Given the description of an element on the screen output the (x, y) to click on. 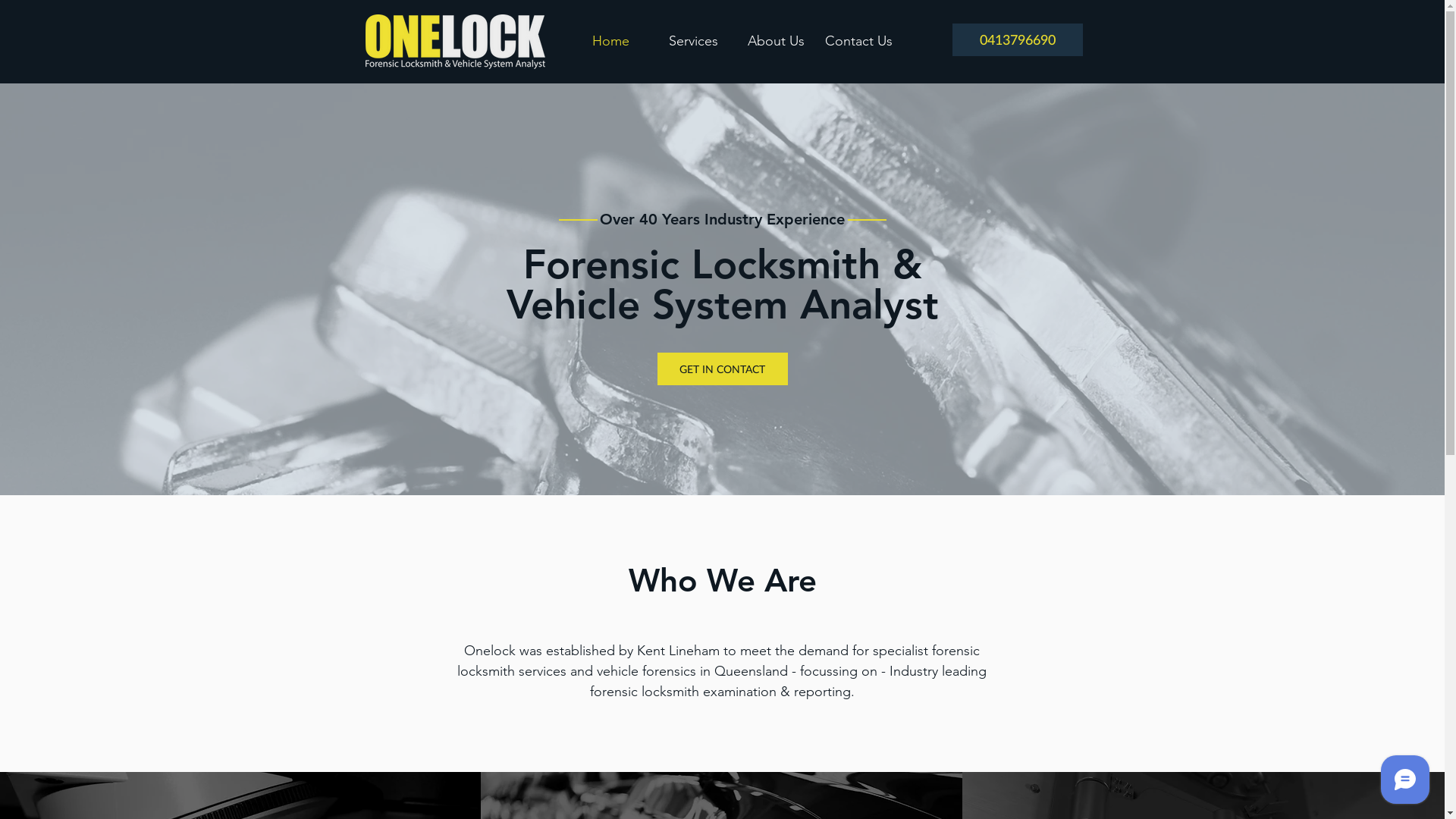
0413796690 Element type: text (1017, 39)
Home Element type: text (610, 41)
Services Element type: text (693, 41)
About Us Element type: text (775, 41)
Contact Us Element type: text (858, 41)
GET IN CONTACT Element type: text (721, 368)
